Given the description of an element on the screen output the (x, y) to click on. 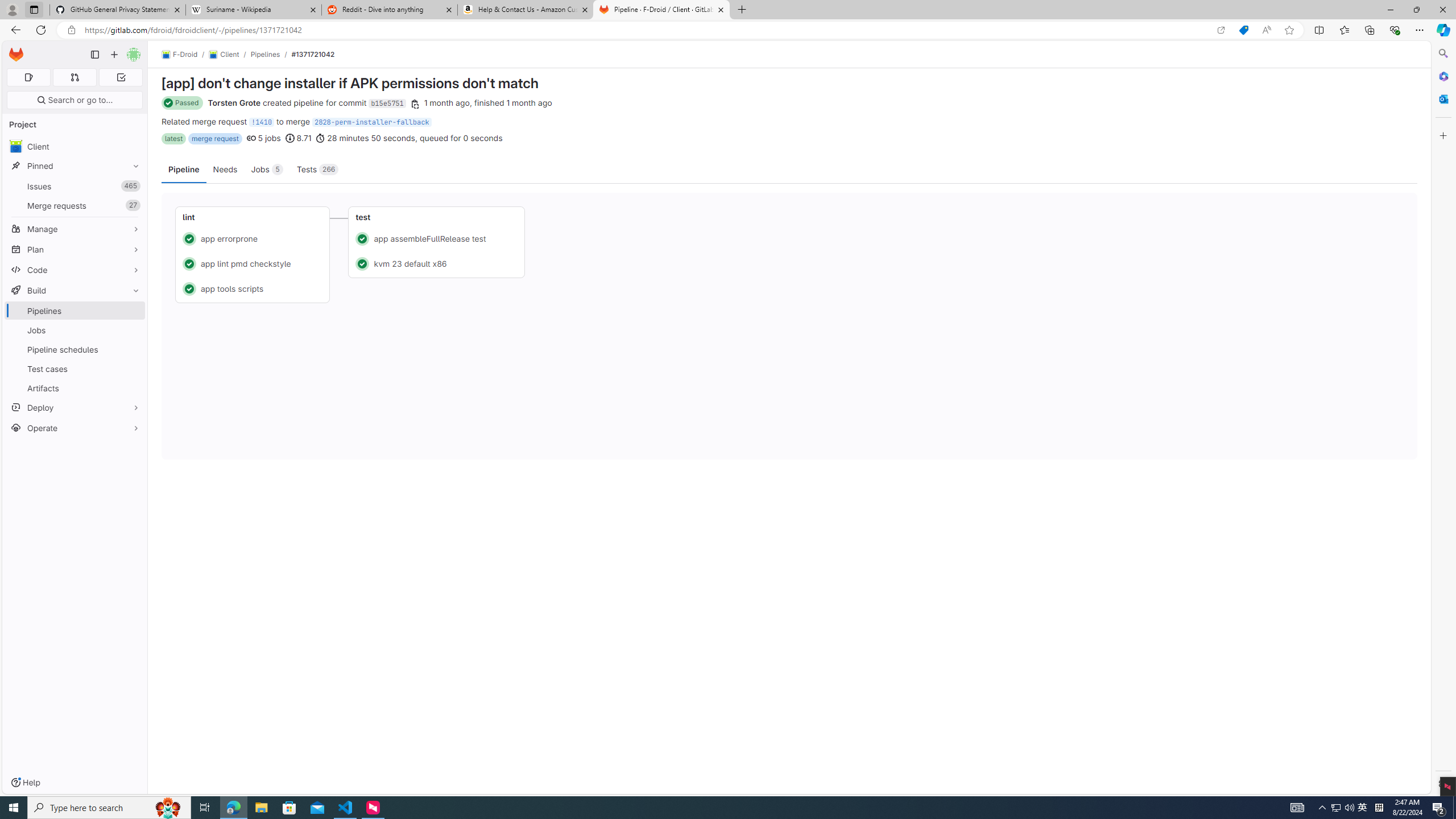
b15e5751 (387, 103)
Status: Passed app errorprone (252, 238)
Pipelines/ (270, 53)
#1371721042 (312, 53)
Open in app (1220, 29)
F-Droid/ (185, 54)
Merge requests 27 (74, 205)
Pipelines (74, 310)
Operate (74, 427)
